Given the description of an element on the screen output the (x, y) to click on. 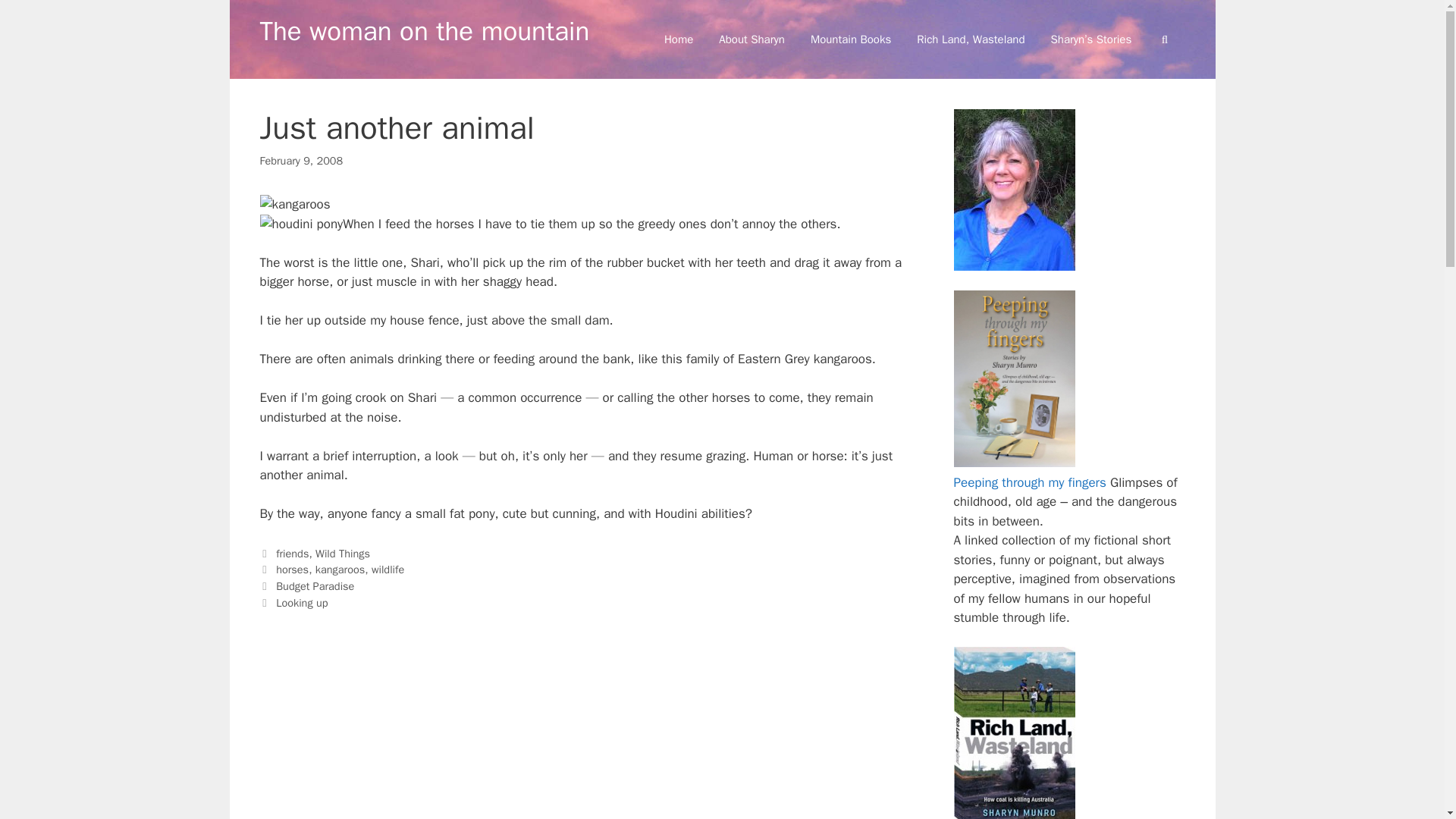
Looking up (301, 602)
Home (678, 39)
Rich Land, Wasteland (970, 39)
Budget Paradise (314, 585)
horses (292, 569)
wildlife (387, 569)
friends (292, 553)
About Sharyn (751, 39)
Wild Things (342, 553)
kangaroos (340, 569)
